Given the description of an element on the screen output the (x, y) to click on. 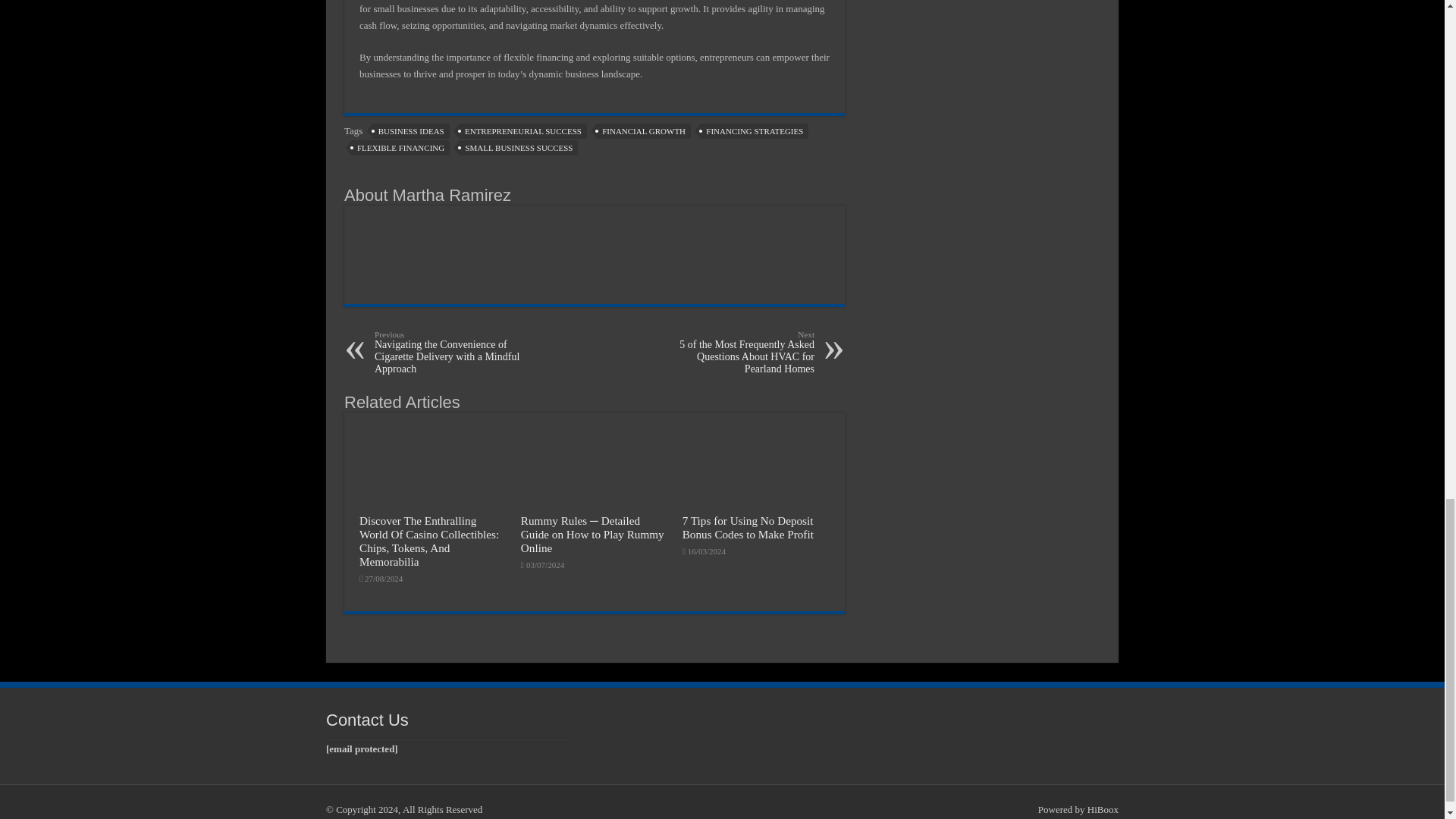
FINANCING STRATEGIES (754, 130)
FINANCIAL GROWTH (643, 130)
SMALL BUSINESS SUCCESS (519, 147)
FLEXIBLE FINANCING (400, 147)
ENTREPRENEURIAL SUCCESS (523, 130)
BUSINESS IDEAS (410, 130)
